Given the description of an element on the screen output the (x, y) to click on. 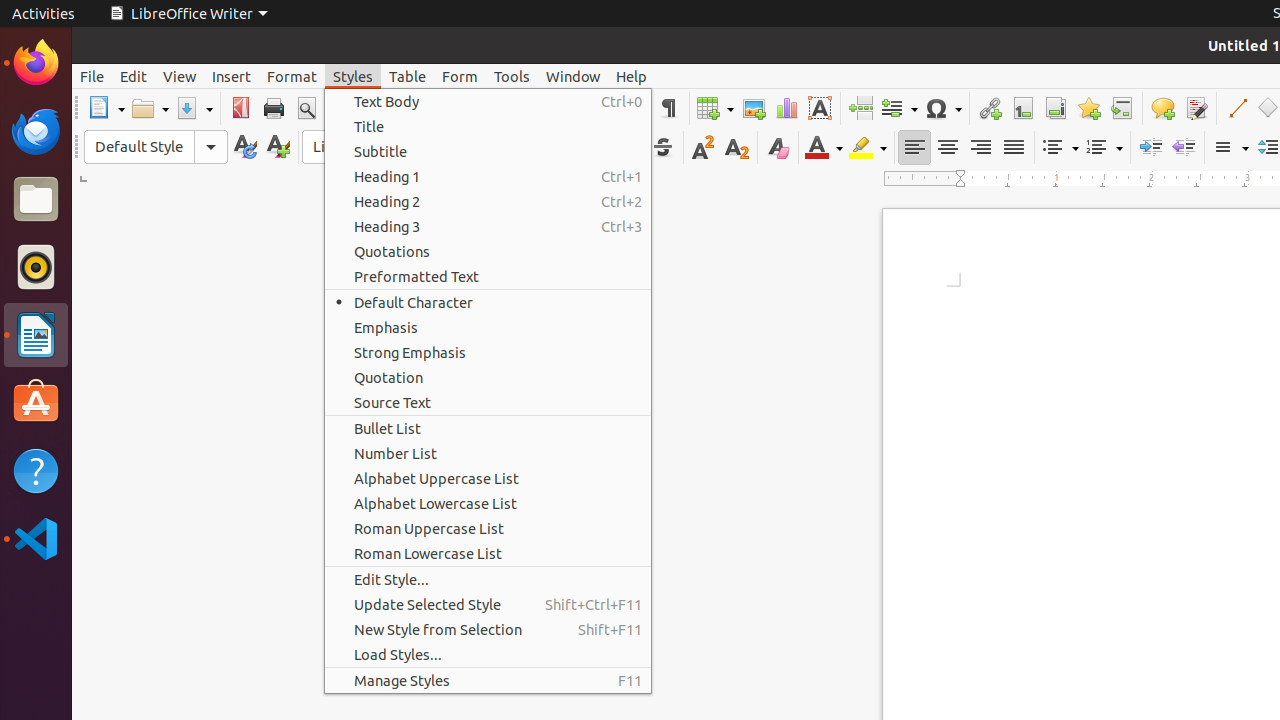
Edit Style... Element type: menu-item (488, 579)
Subtitle Element type: radio-menu-item (488, 151)
Tools Element type: menu (512, 76)
Print Preview Element type: toggle-button (306, 108)
Symbol Element type: push-button (943, 108)
